Given the description of an element on the screen output the (x, y) to click on. 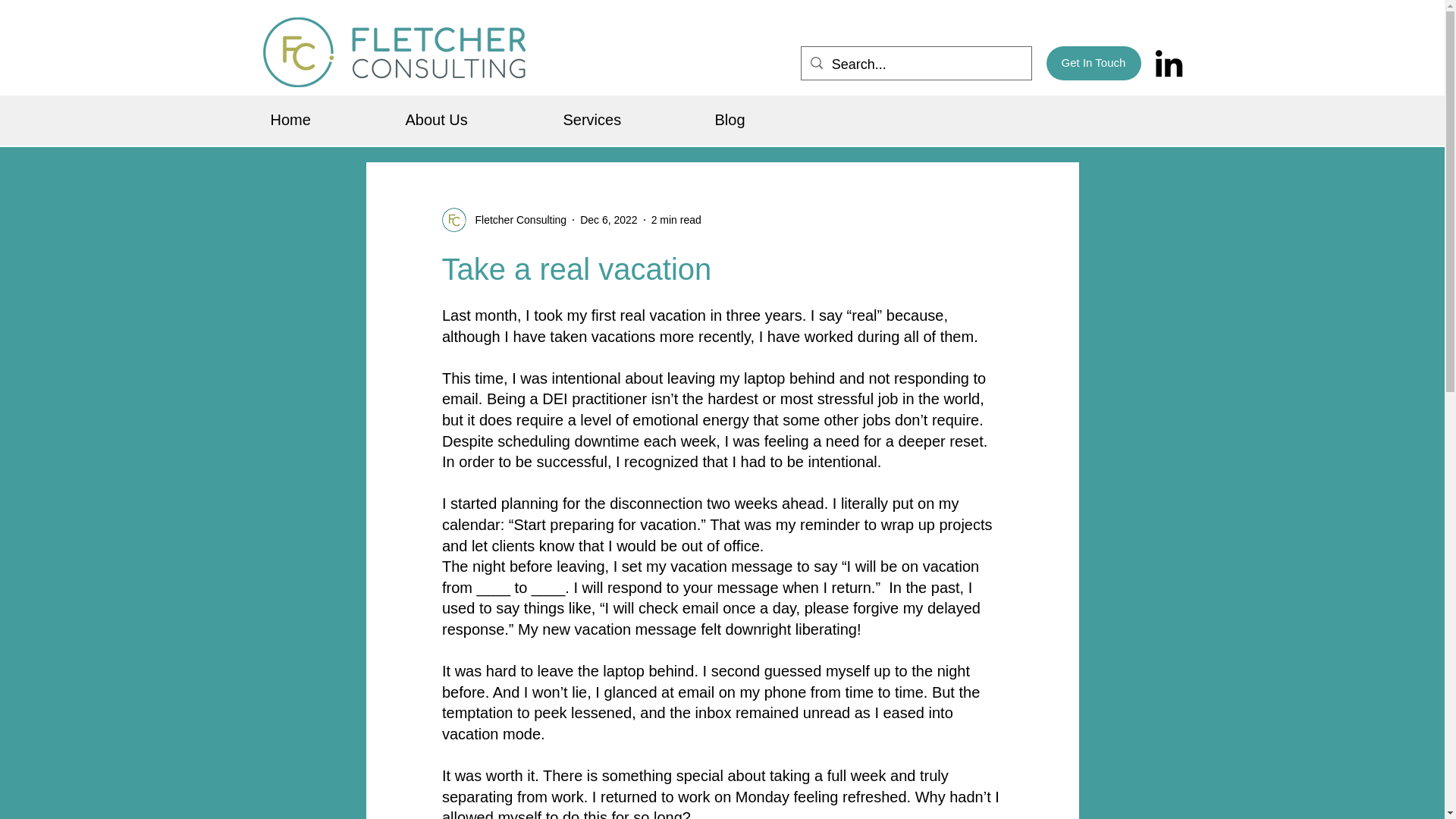
Get In Touch (1093, 62)
Home (329, 120)
Dec 6, 2022 (608, 219)
Fletcher Consulting (515, 220)
2 min read (675, 219)
Blog (767, 120)
